Given the description of an element on the screen output the (x, y) to click on. 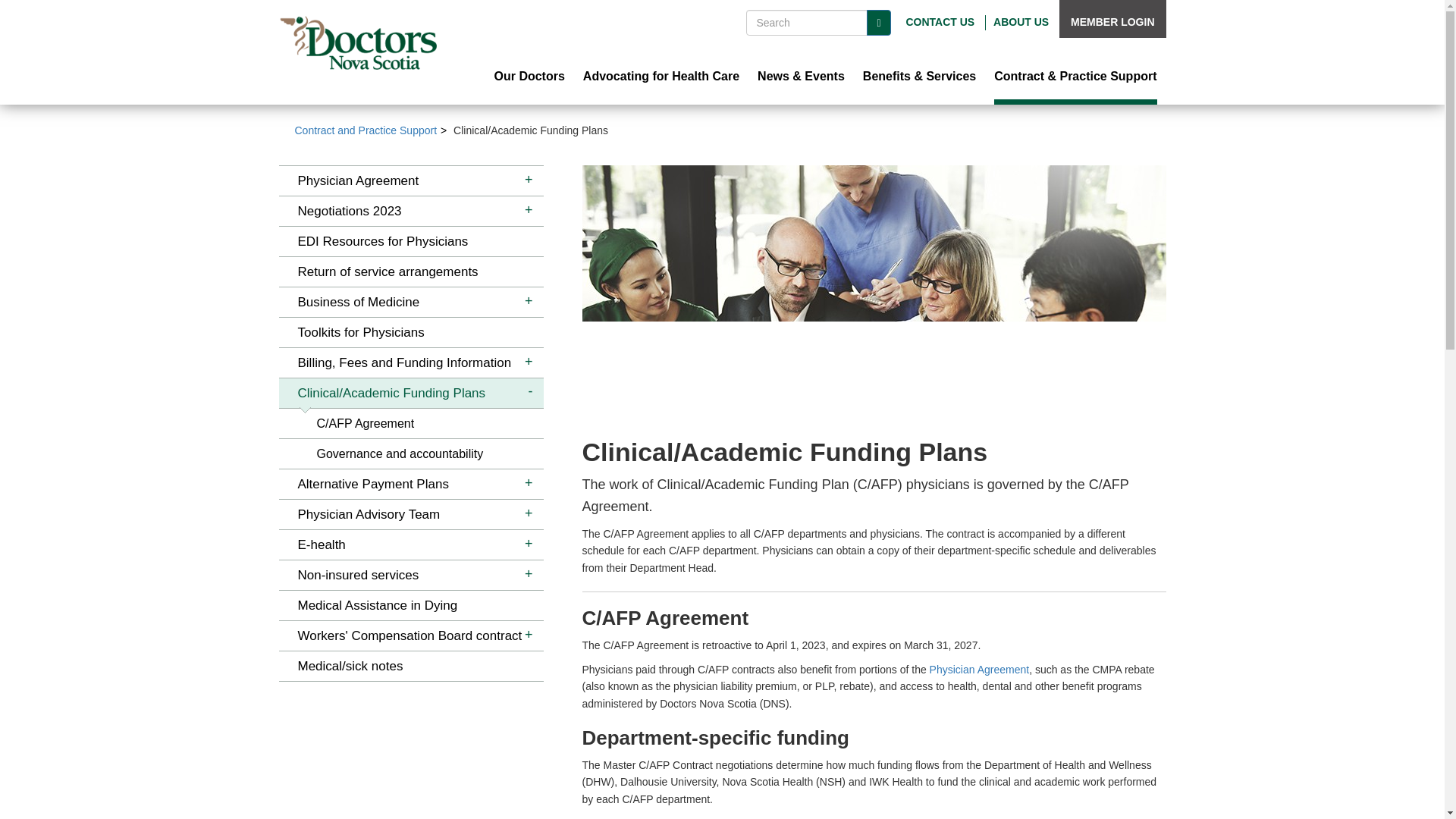
MEMBER LOGIN (1112, 21)
Our Doctors Description (529, 77)
Home (358, 43)
ABOUT US (1020, 21)
CONTACT US (939, 21)
Search (877, 22)
